Given the description of an element on the screen output the (x, y) to click on. 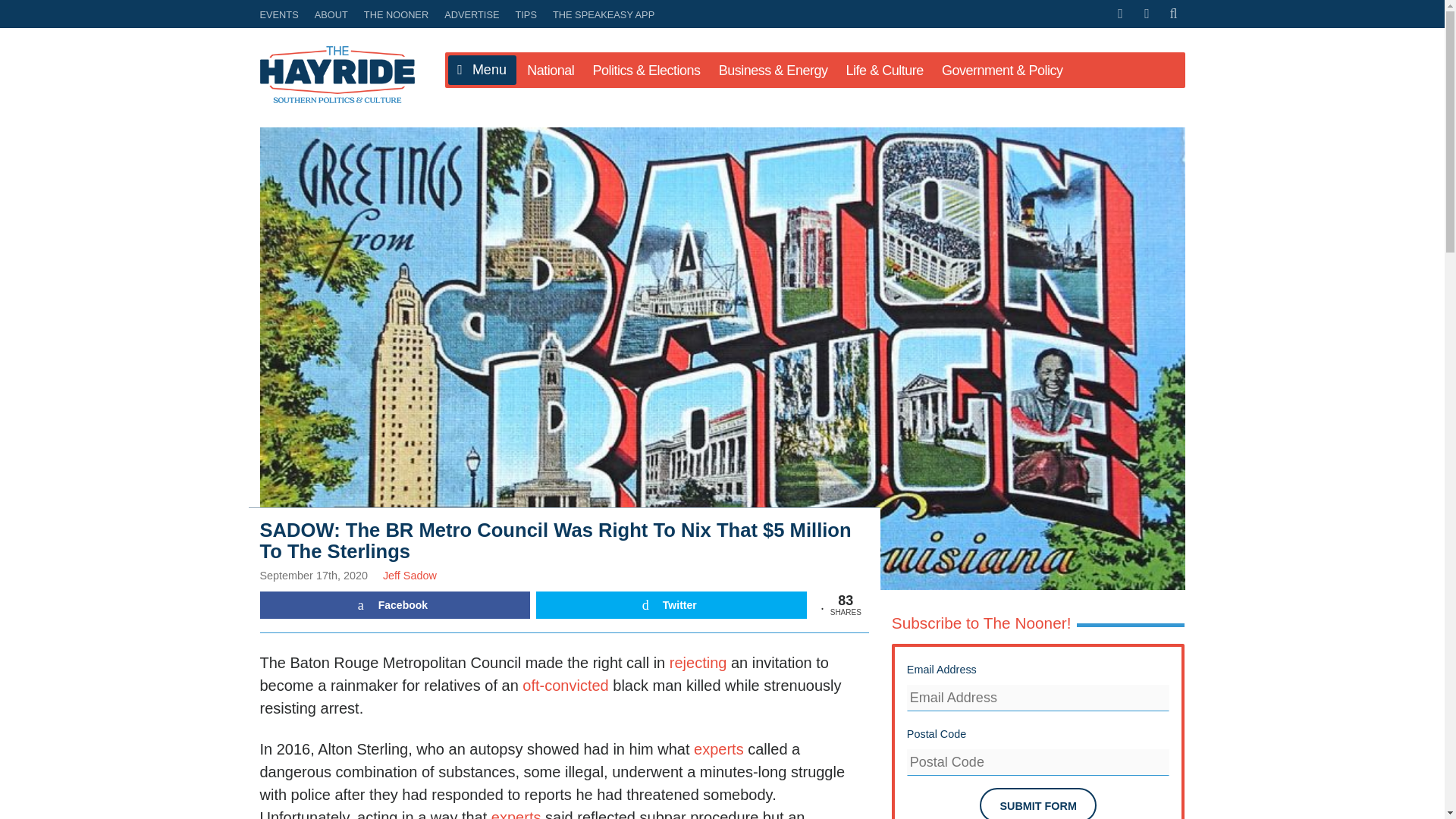
TIPS (526, 14)
Facebook (394, 605)
Menu (480, 70)
rejecting (697, 662)
THE SPEAKEASY APP (600, 14)
Twitter (670, 605)
Share on Facebook (394, 605)
THE NOONER (395, 14)
ADVERTISE (471, 14)
ABOUT (330, 14)
